Given the description of an element on the screen output the (x, y) to click on. 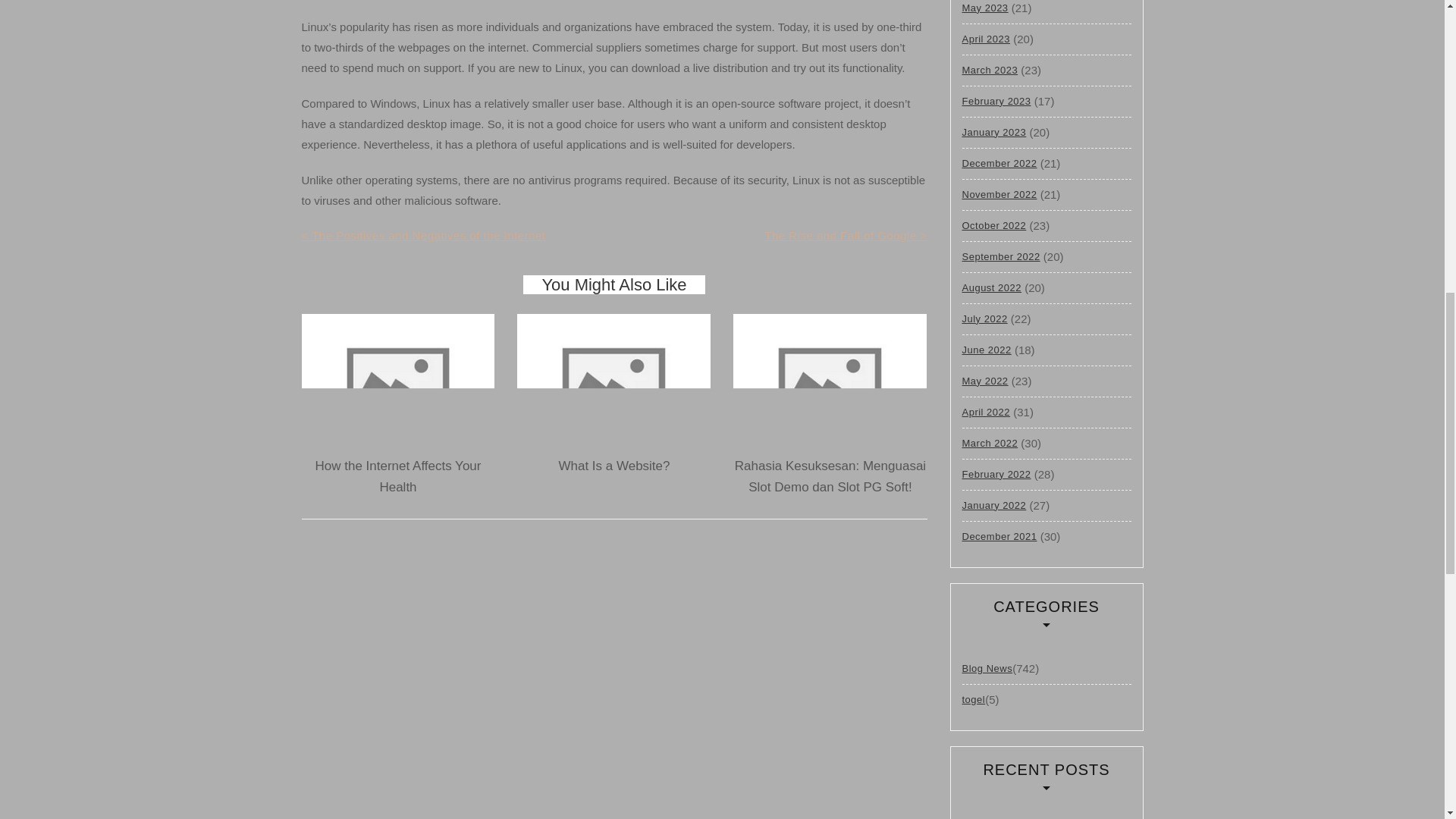
January 2023 (993, 132)
December 2022 (998, 163)
What Is a Website? (613, 465)
February 2023 (995, 101)
November 2022 (998, 194)
March 2023 (988, 69)
How the Internet Affects Your Health (398, 476)
October 2022 (993, 225)
April 2023 (985, 39)
May 2023 (983, 11)
Rahasia Kesuksesan: Menguasai Slot Demo dan Slot PG Soft! (830, 476)
